Given the description of an element on the screen output the (x, y) to click on. 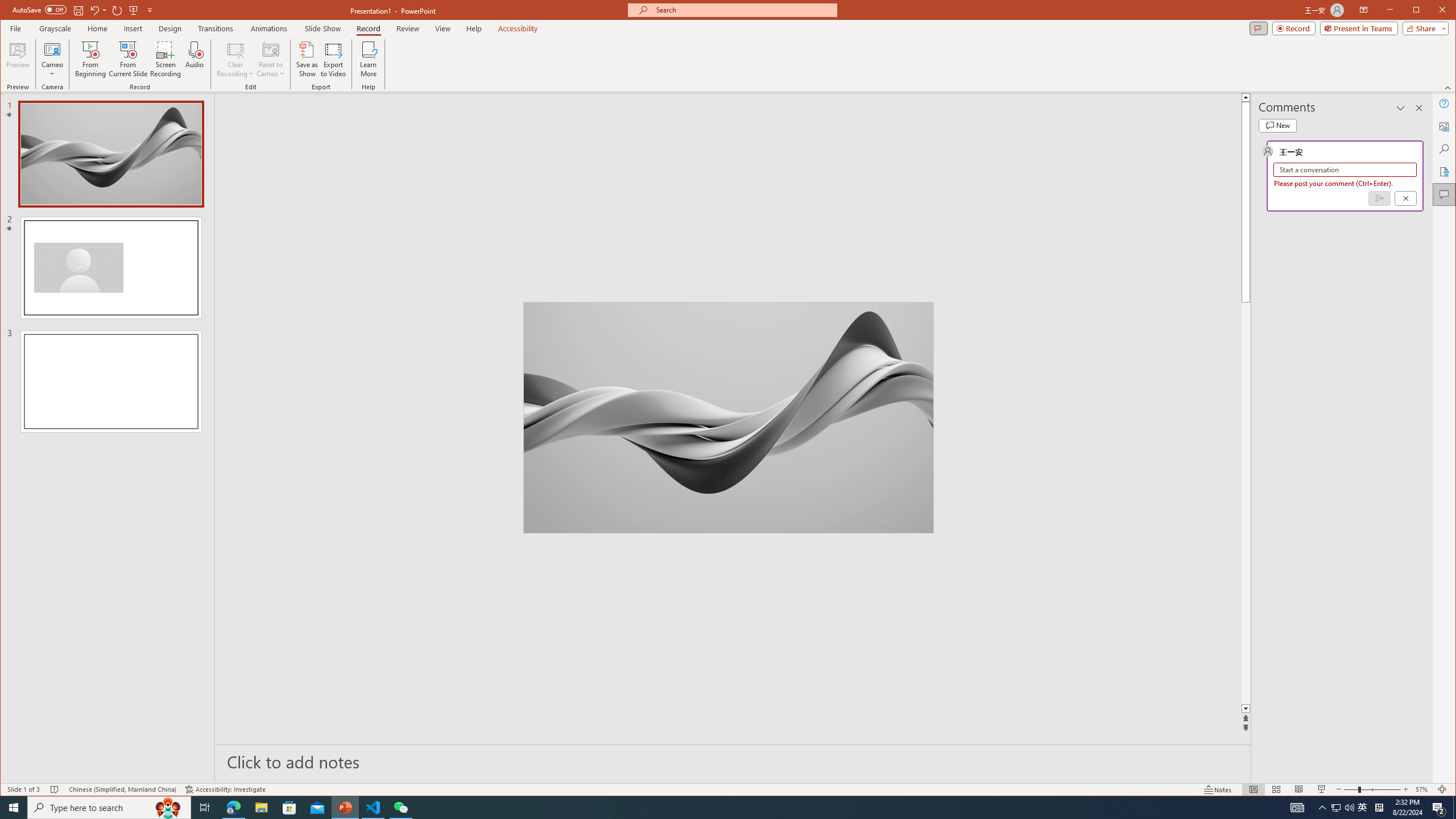
Post comment (Ctrl + Enter) (1379, 197)
New comment (1277, 125)
